Given the description of an element on the screen output the (x, y) to click on. 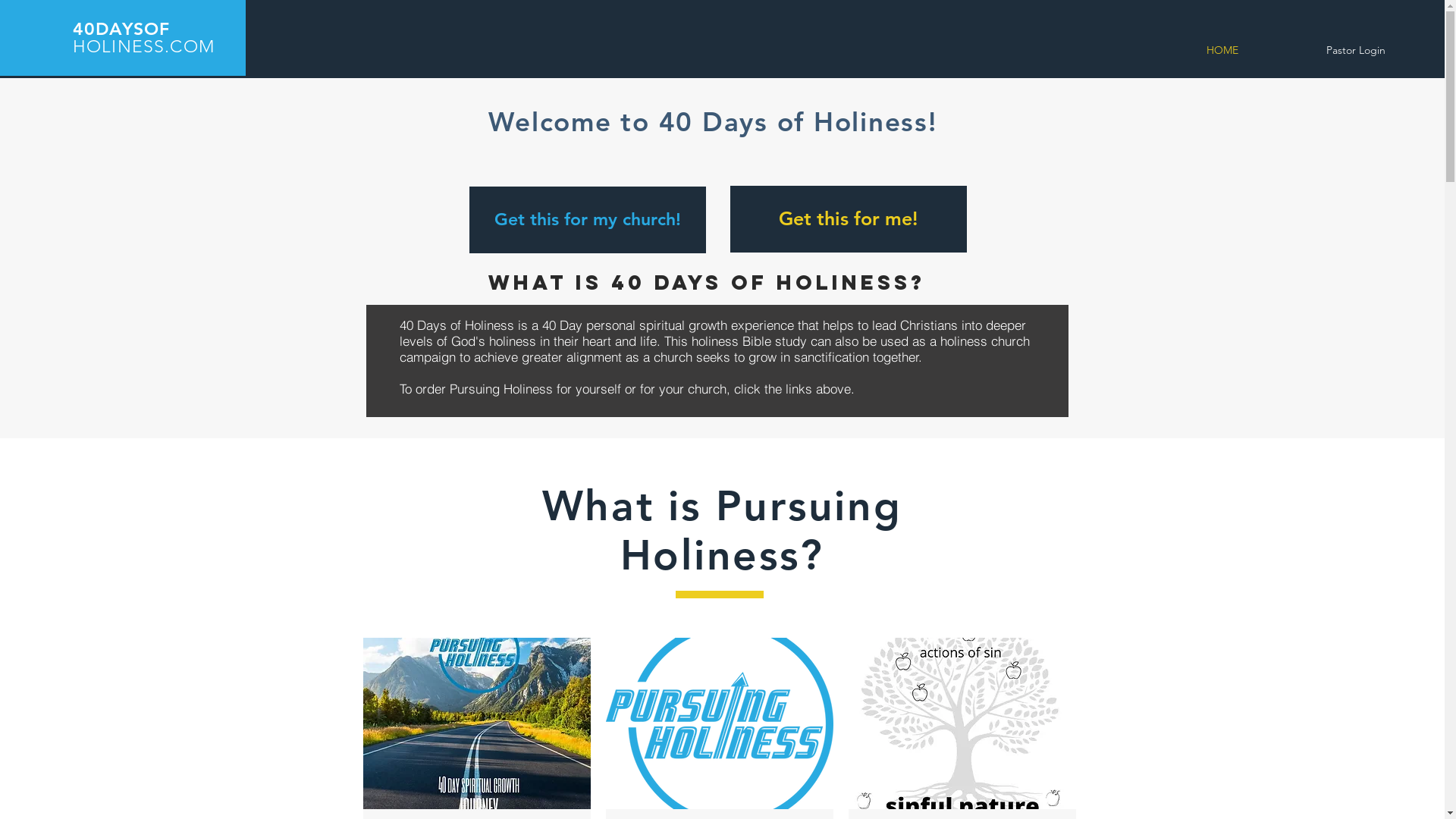
Pastor Login Element type: text (1355, 50)
HOLINESS.COM Element type: text (143, 45)
40DAYSOF Element type: text (120, 28)
Get this for my church! Element type: text (586, 219)
HOME Element type: text (1221, 50)
Get this for me! Element type: text (847, 218)
